Given the description of an element on the screen output the (x, y) to click on. 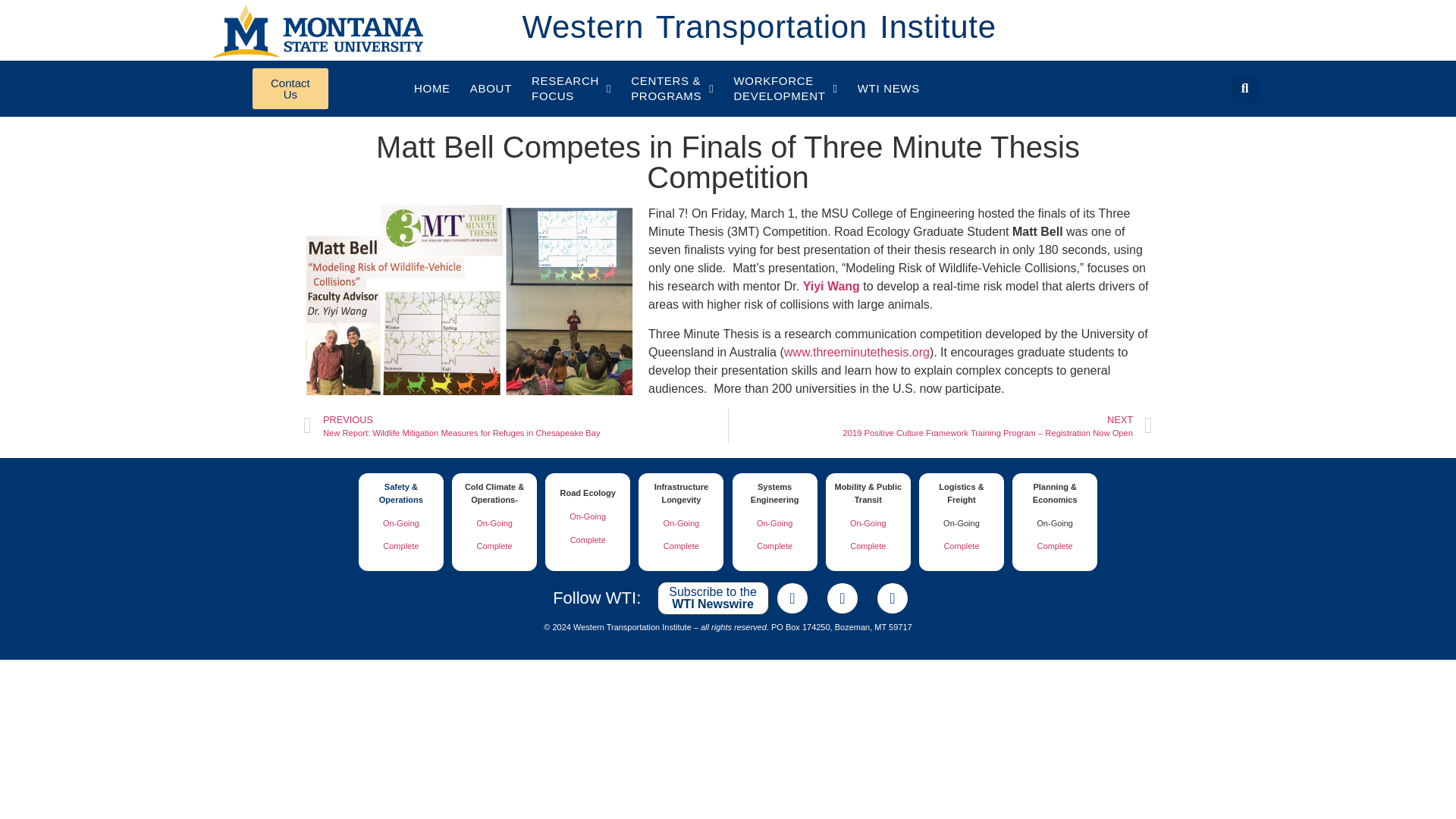
HOME (432, 88)
WTI NEWS (290, 87)
ABOUT (888, 88)
Western Transportation Institute (491, 88)
